Given the description of an element on the screen output the (x, y) to click on. 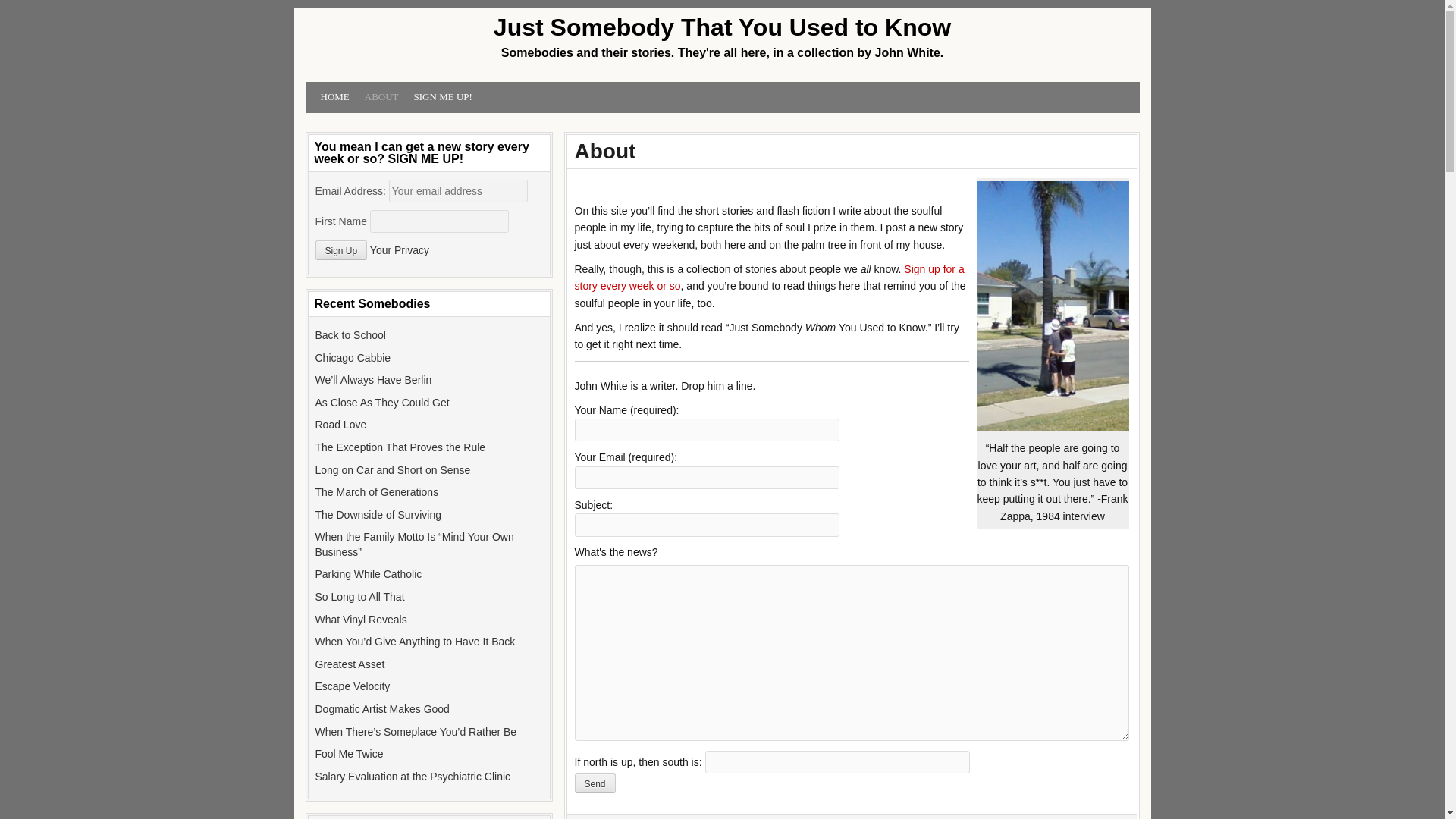
The Exception That Proves the Rule (400, 447)
Back to School (350, 335)
Sign Up (341, 250)
Sign Up (341, 250)
Long on Car and Short on Sense (392, 469)
Parking While Catholic (368, 573)
ABOUT (381, 97)
SIGN ME UP! (443, 97)
What Vinyl Reveals (361, 619)
Salary Evaluation at the Psychiatric Clinic (413, 776)
